Given the description of an element on the screen output the (x, y) to click on. 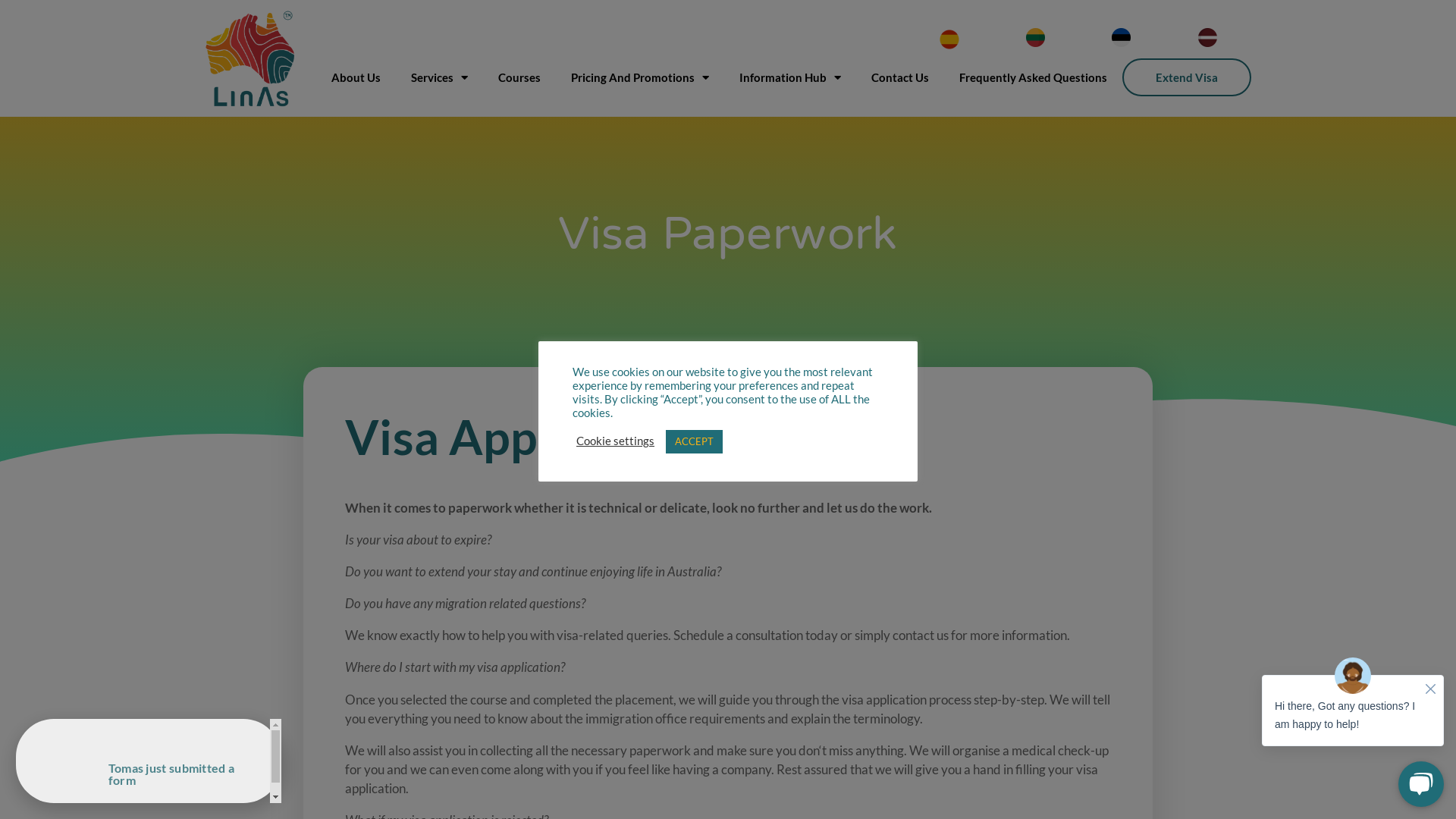
ACCEPT Element type: text (693, 440)
Frequently Asked Questions Element type: text (1033, 77)
latvia Element type: hover (1207, 37)
Extend Visa Element type: text (1186, 76)
About Us Element type: text (355, 77)
estonia Element type: hover (1120, 37)
Pricing And Promotions Element type: text (639, 77)
SPANISH Element type: hover (949, 39)
Courses Element type: text (519, 77)
Services Element type: text (439, 77)
Cookie settings Element type: text (615, 441)
Contact Us Element type: text (900, 77)
Information Hub Element type: text (790, 77)
lithuania Element type: hover (1035, 37)
